Given the description of an element on the screen output the (x, y) to click on. 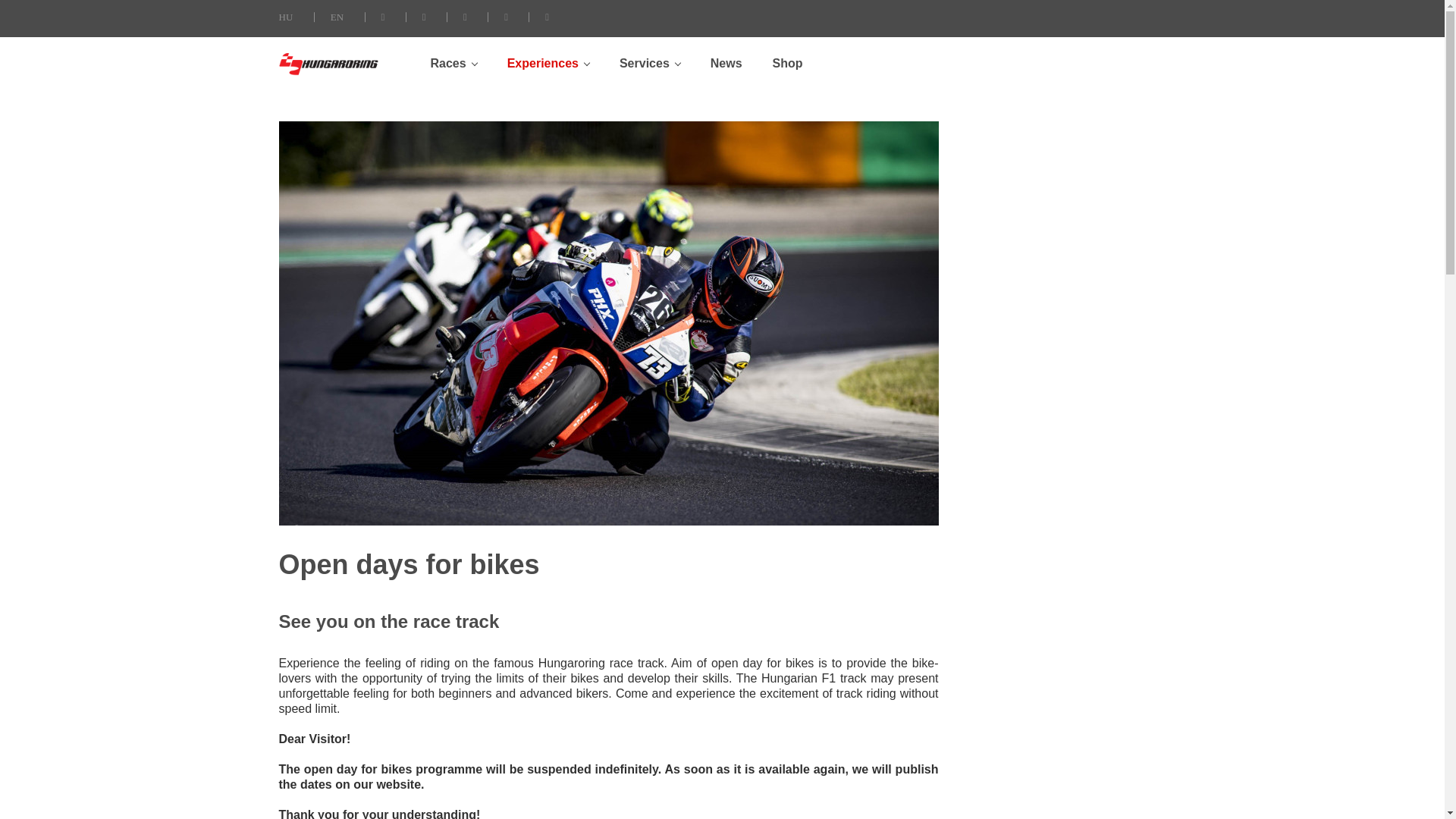
HU (286, 17)
Experiences (547, 63)
Services (649, 63)
